Given the description of an element on the screen output the (x, y) to click on. 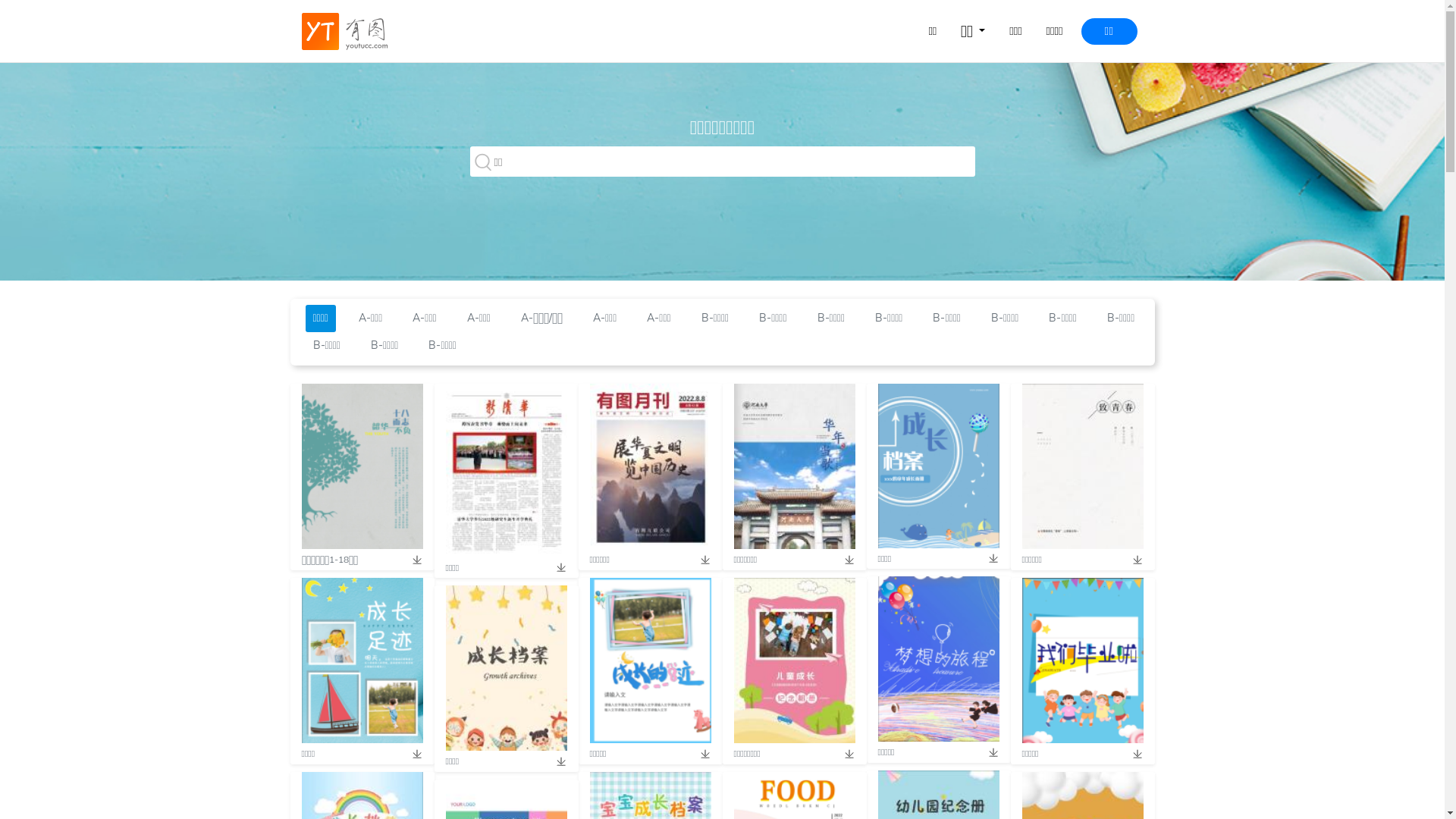
           Element type: text (987, 751)
           Element type: text (843, 753)
           Element type: text (1131, 559)
           Element type: text (555, 567)
           Element type: text (1131, 753)
           Element type: text (411, 753)
           Element type: text (411, 559)
           Element type: text (555, 760)
           Element type: text (699, 559)
           Element type: text (987, 558)
           Element type: text (843, 559)
           Element type: text (699, 753)
